Given the description of an element on the screen output the (x, y) to click on. 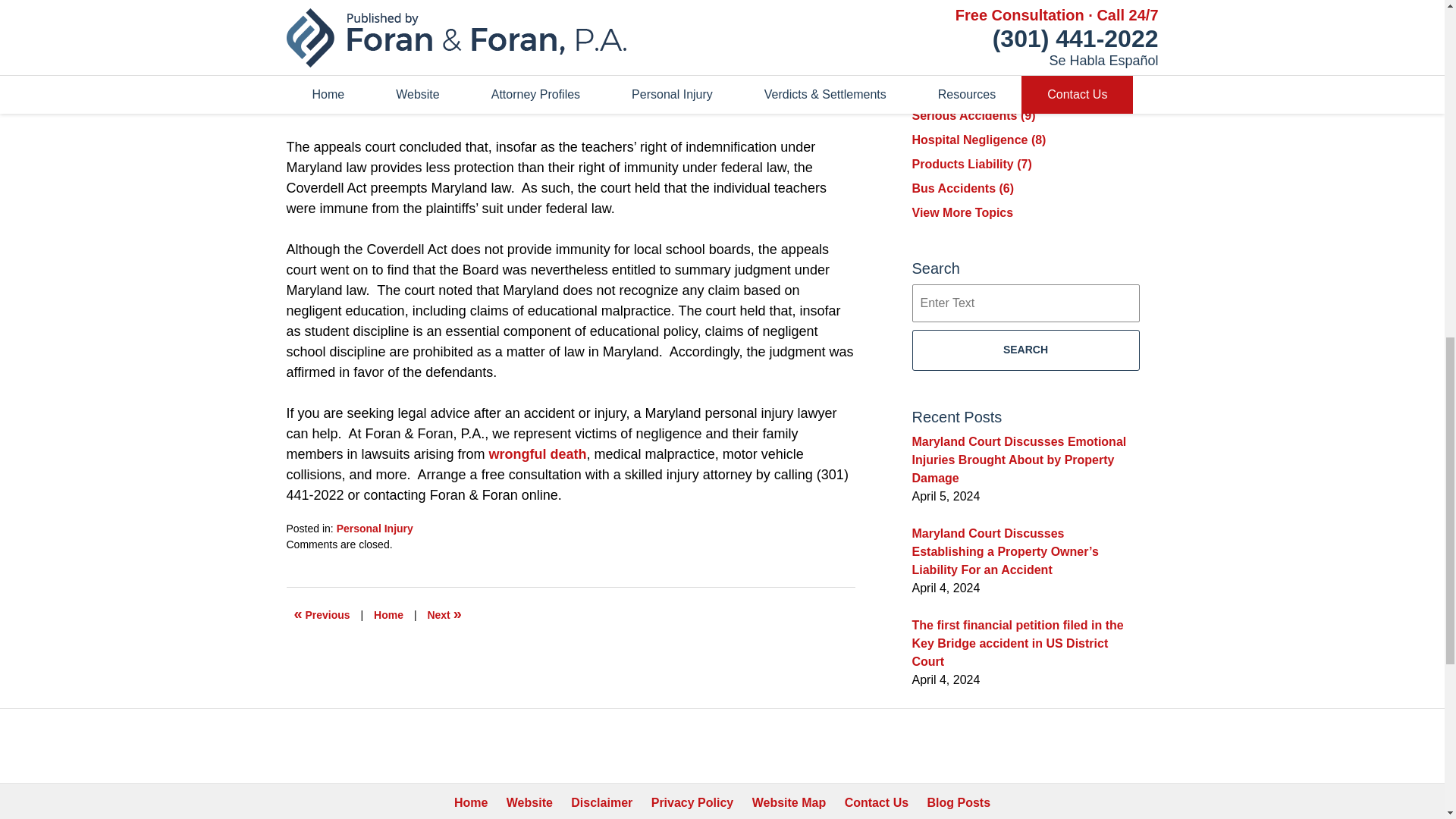
Home (388, 614)
View all posts in Personal Injury (374, 528)
Personal Injury (374, 528)
wrongful death (537, 453)
